Given the description of an element on the screen output the (x, y) to click on. 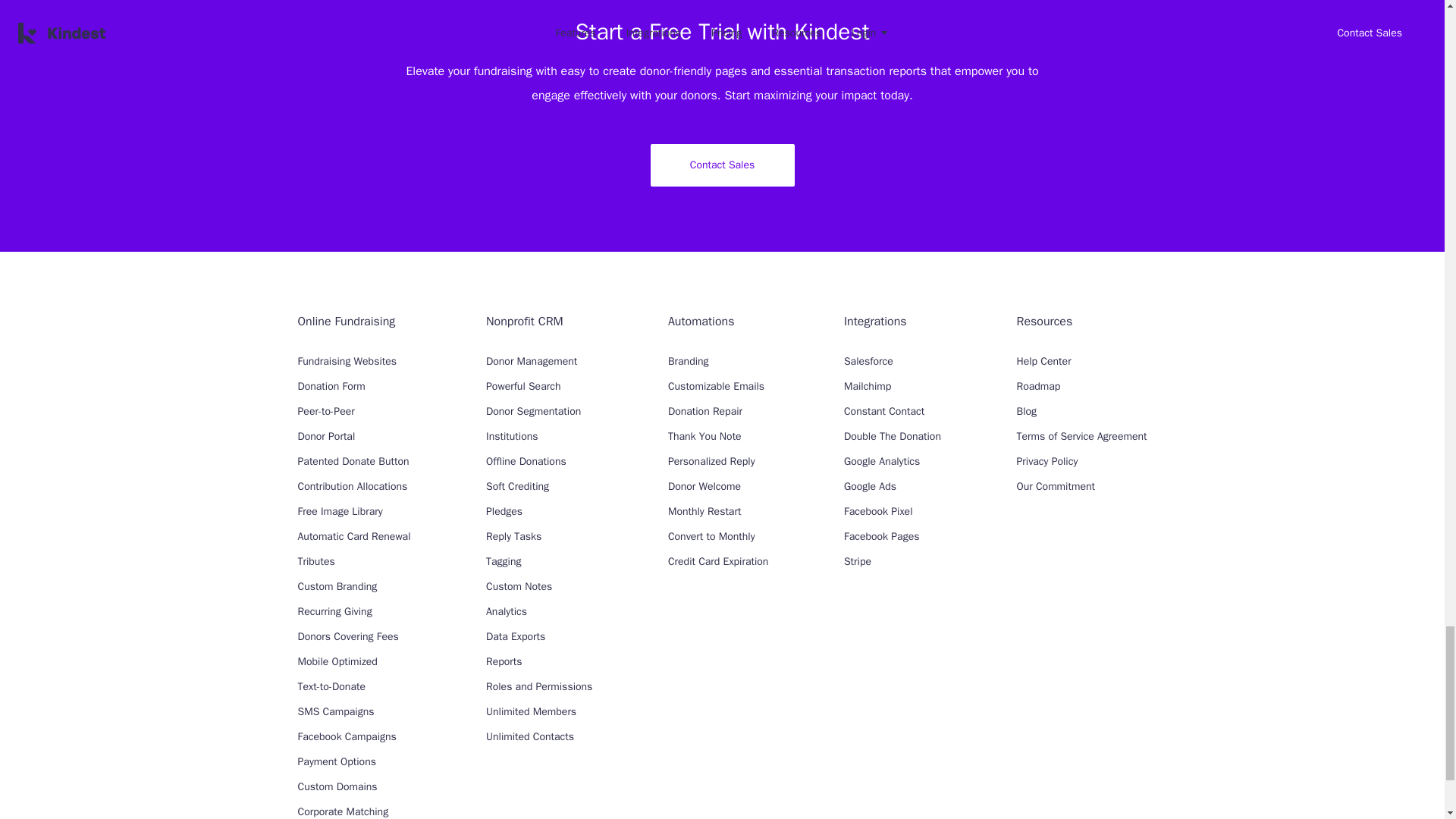
Contact Sales (722, 165)
SMS Campaigns (335, 711)
Donor Segmentation (533, 410)
Peer-to-Peer (325, 410)
Powerful Search (523, 386)
Automatic Card Renewal (353, 535)
Free Image Library (339, 511)
Custom Domains (337, 786)
Tributes (315, 561)
Corporate Matching (342, 811)
